Given the description of an element on the screen output the (x, y) to click on. 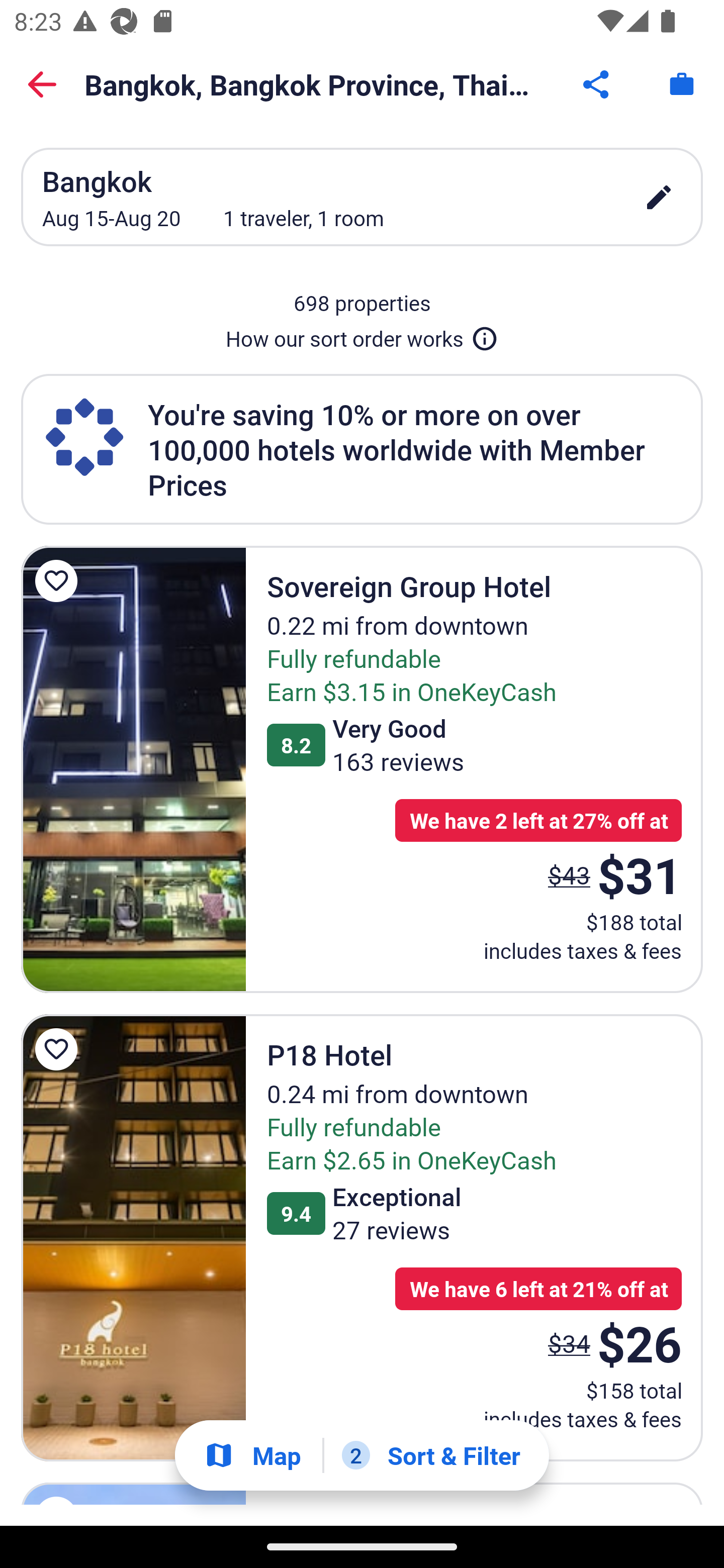
Back (42, 84)
Share Button (597, 84)
Trips. Button (681, 84)
Bangkok Aug 15-Aug 20 1 traveler, 1 room edit (361, 196)
How our sort order works (361, 334)
Save Sovereign Group Hotel to a trip (59, 580)
Sovereign Group Hotel (133, 768)
$43 The price was $43 (569, 874)
Save P18 Hotel to a trip (59, 1048)
P18 Hotel (133, 1237)
$34 The price was $34 (569, 1343)
2 Sort & Filter 2 Filters applied. Filters Button (430, 1455)
Show map Map Show map Button (252, 1455)
